Given the description of an element on the screen output the (x, y) to click on. 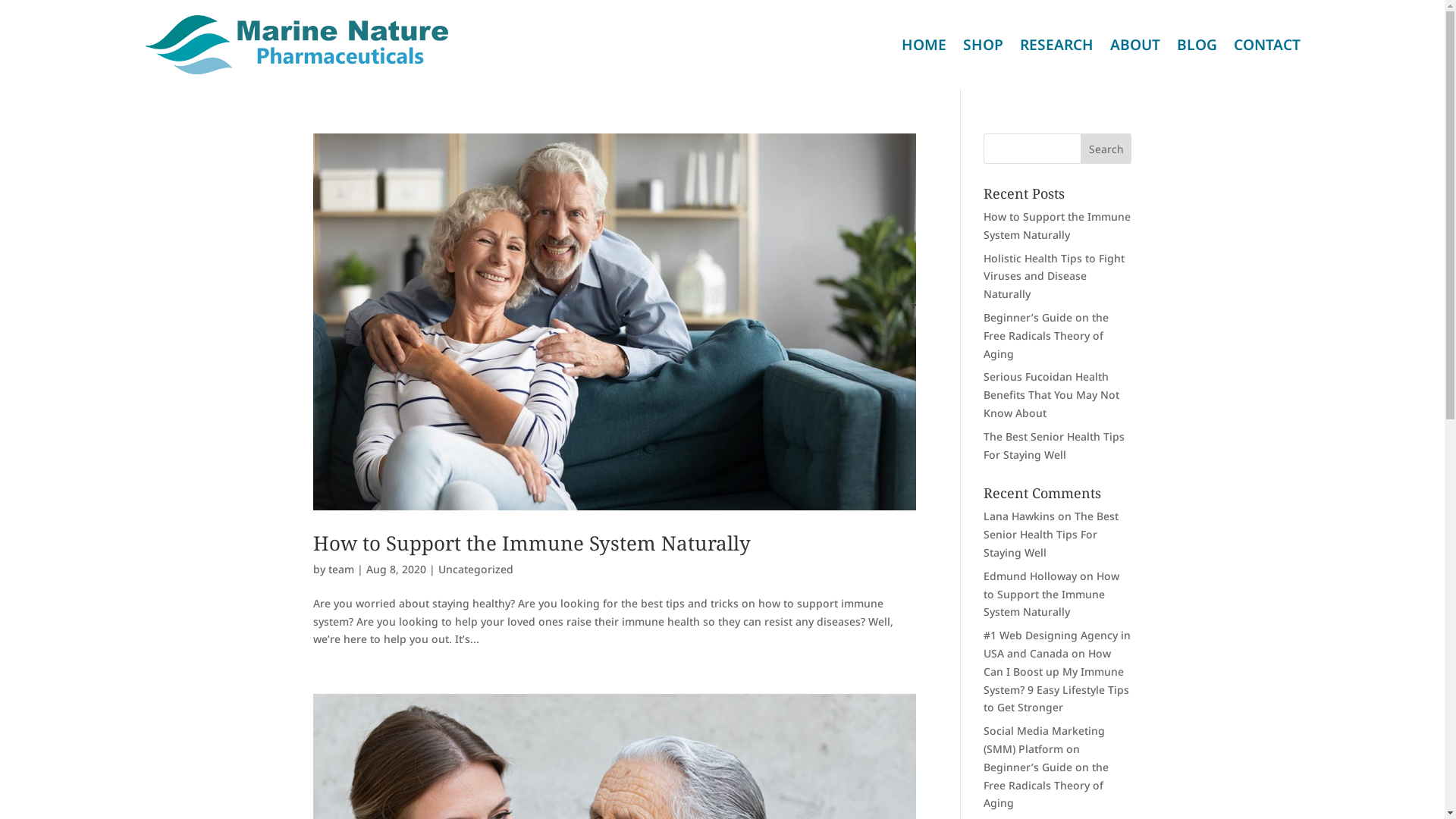
BLOG Element type: text (1196, 44)
Uncategorized Element type: text (475, 568)
Serious Fucoidan Health Benefits That You May Not Know About Element type: text (1051, 394)
Lana Hawkins Element type: text (1018, 515)
How to Support the Immune System Naturally Element type: text (530, 542)
SHOP Element type: text (983, 44)
Edmund Holloway Element type: text (1029, 575)
The Best Senior Health Tips For Staying Well Element type: text (1053, 445)
Search Element type: text (1106, 148)
How to Support the Immune System Naturally Element type: text (1051, 593)
How to Support the Immune System Naturally Element type: text (1056, 225)
ABOUT Element type: text (1135, 44)
Holistic Health Tips to Fight Viruses and Disease Naturally Element type: text (1053, 276)
#1 Web Designing Agency in USA and Canada Element type: text (1056, 643)
CONTACT Element type: text (1266, 44)
Social Media Marketing (SMM) Platform Element type: text (1043, 739)
RESEARCH Element type: text (1055, 44)
The Best Senior Health Tips For Staying Well Element type: text (1050, 533)
team Element type: text (340, 568)
HOME Element type: text (922, 44)
